Given the description of an element on the screen output the (x, y) to click on. 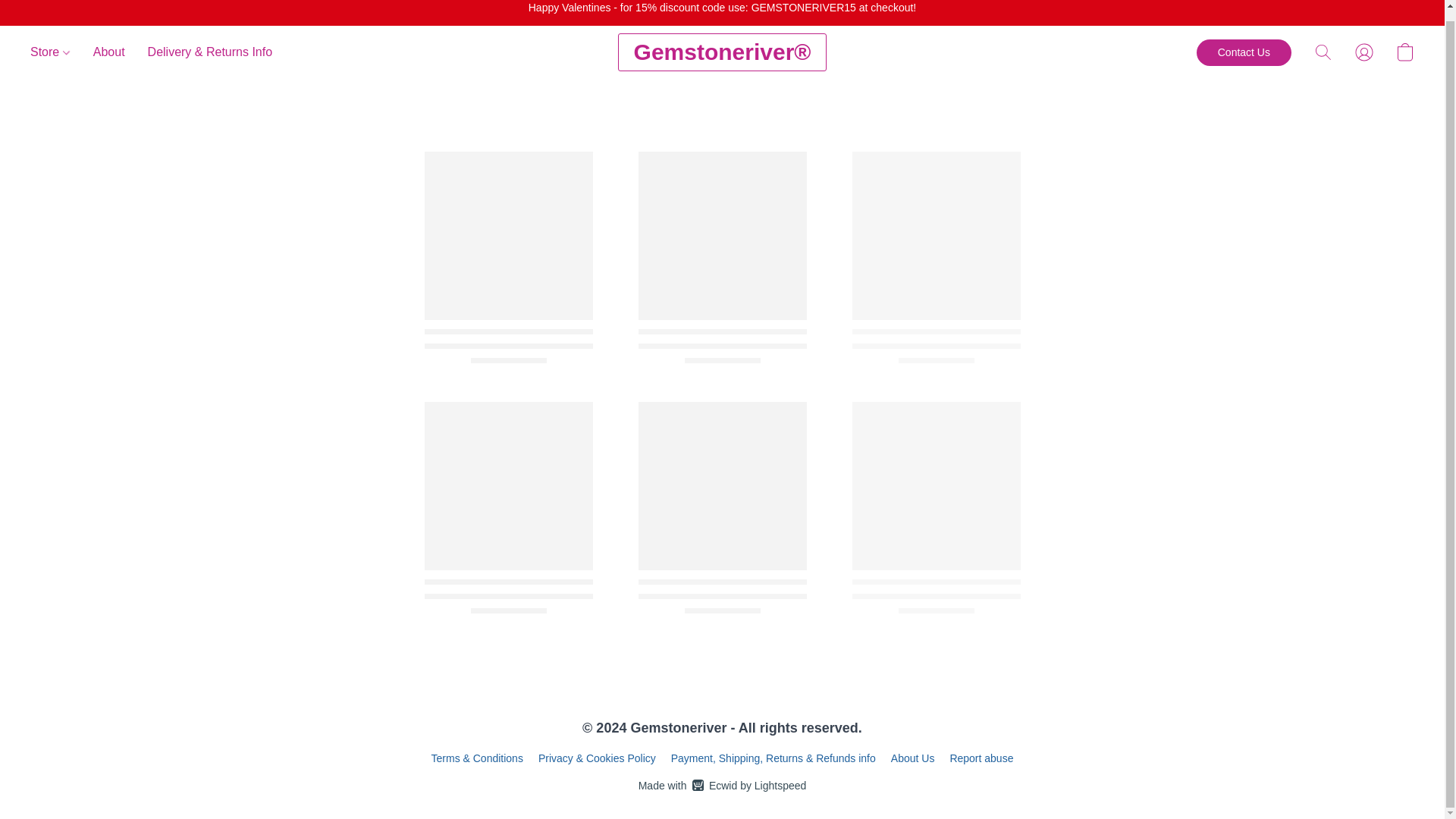
Go to your shopping cart (1404, 52)
Contact Us (1243, 52)
About (108, 51)
Search the website (1323, 52)
About Us (912, 758)
Report abuse (981, 758)
Store (55, 51)
